Given the description of an element on the screen output the (x, y) to click on. 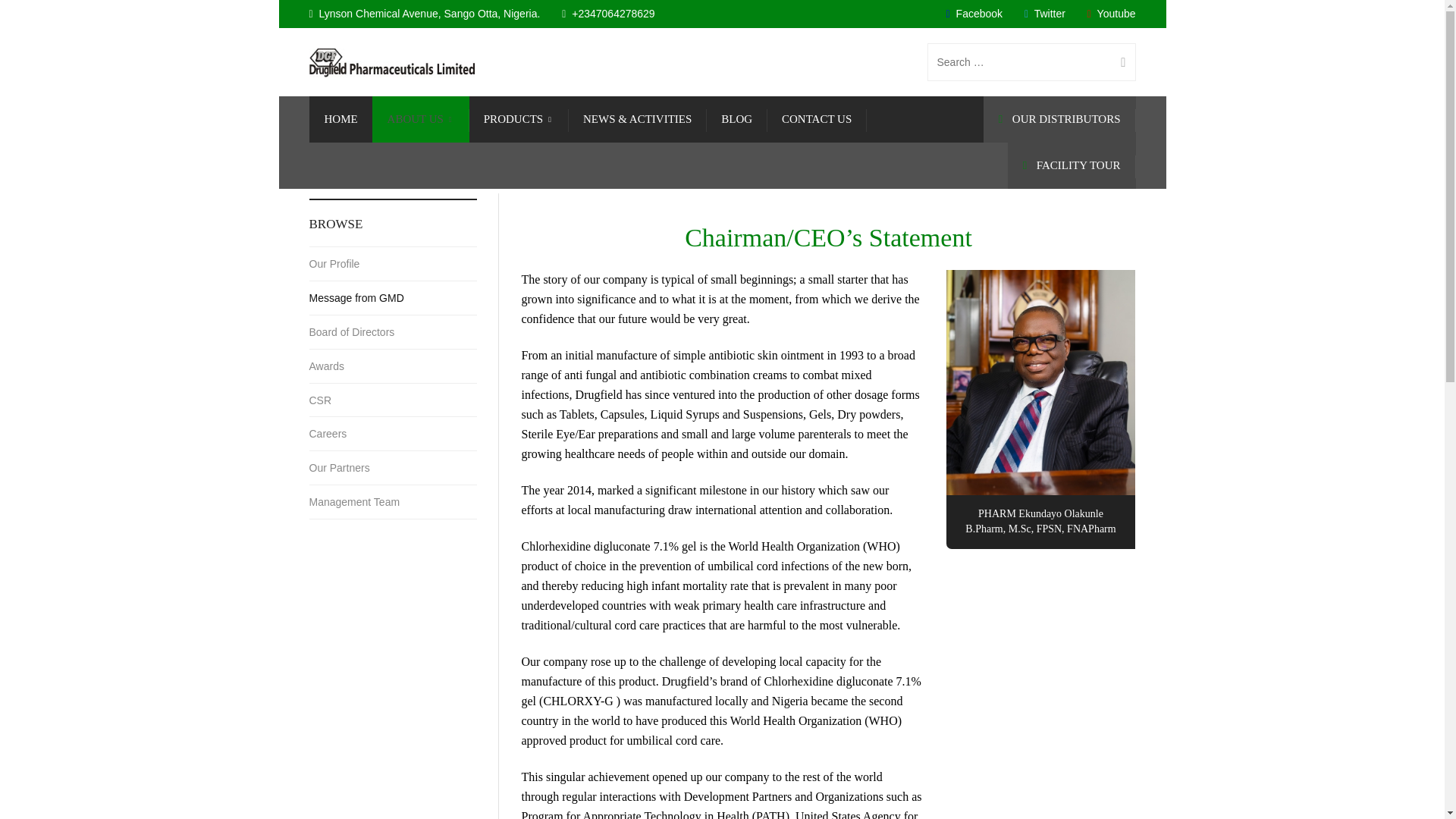
Youtube (1111, 13)
FACILITY TOUR (1071, 165)
Search (1117, 62)
Facebook (974, 13)
Search (1117, 62)
OUR DISTRIBUTORS (1059, 119)
BLOG (736, 119)
Search (1117, 62)
PRODUCTS (518, 119)
CONTACT US (816, 119)
ABOUT US (420, 119)
Webmail Login (317, 796)
Twitter (1045, 13)
HOME (340, 119)
